Given the description of an element on the screen output the (x, y) to click on. 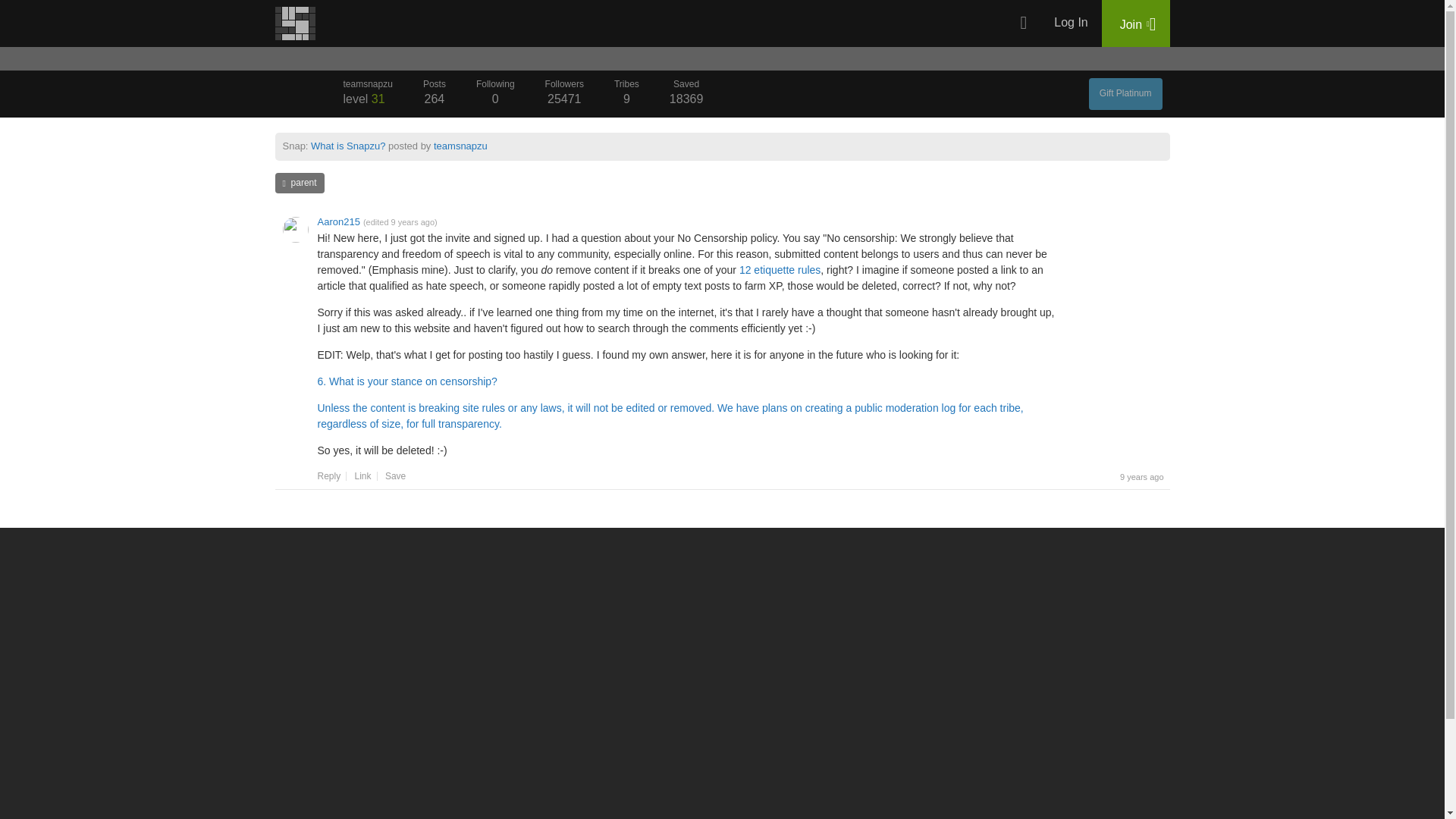
12 etiquette rules (625, 93)
  parent (780, 269)
What is Snapzu? (495, 93)
6. What is your stance on censorship? (299, 182)
teamsnapzu (367, 93)
Log In (348, 145)
Aaron215 (686, 93)
Join (563, 93)
